Given the description of an element on the screen output the (x, y) to click on. 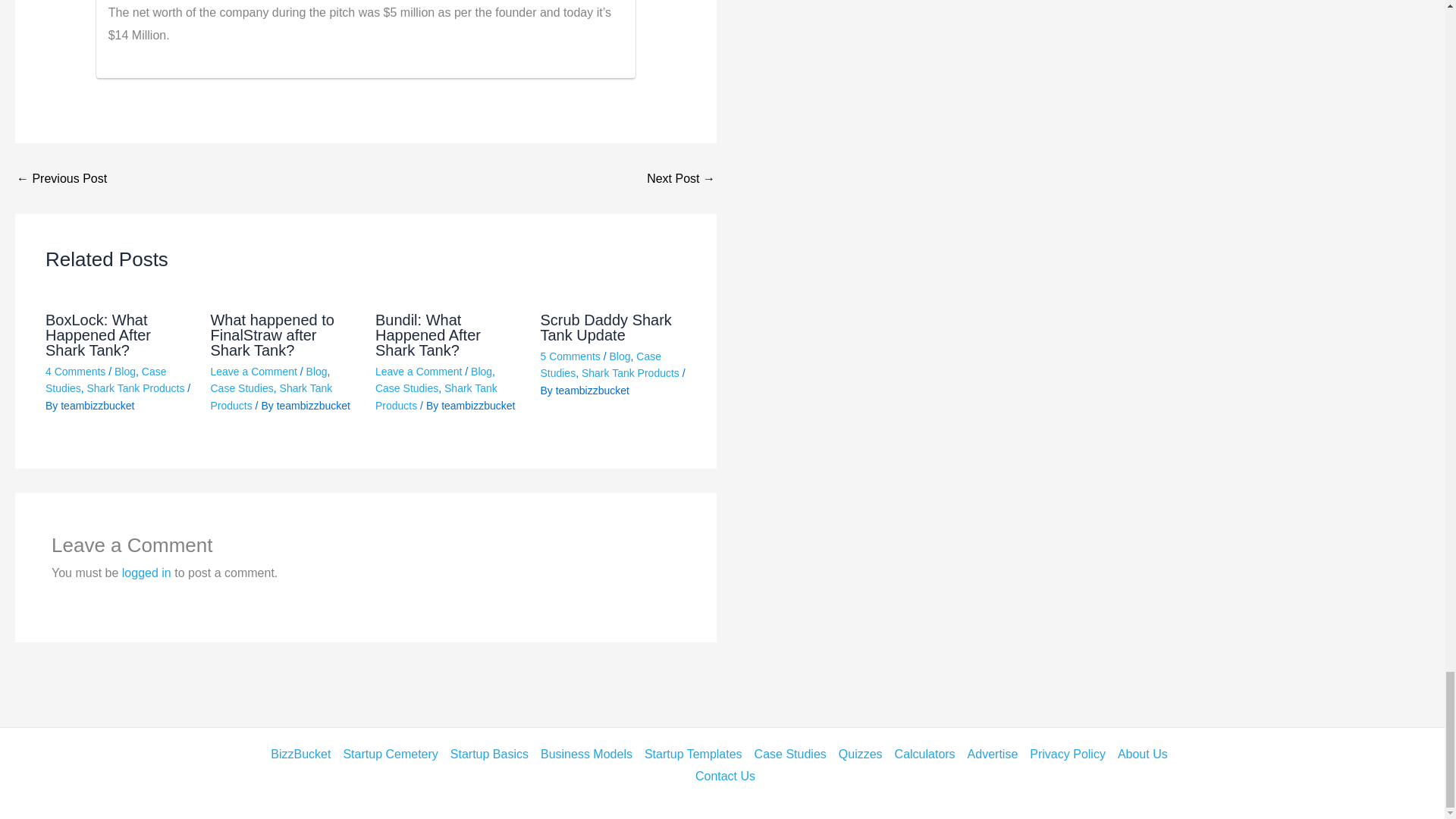
Top 15 Best Selling Shark Tank products of all Time (61, 178)
Vestpakz Shark Tank Update (680, 178)
View all posts by teambizzbucket (97, 405)
